Given the description of an element on the screen output the (x, y) to click on. 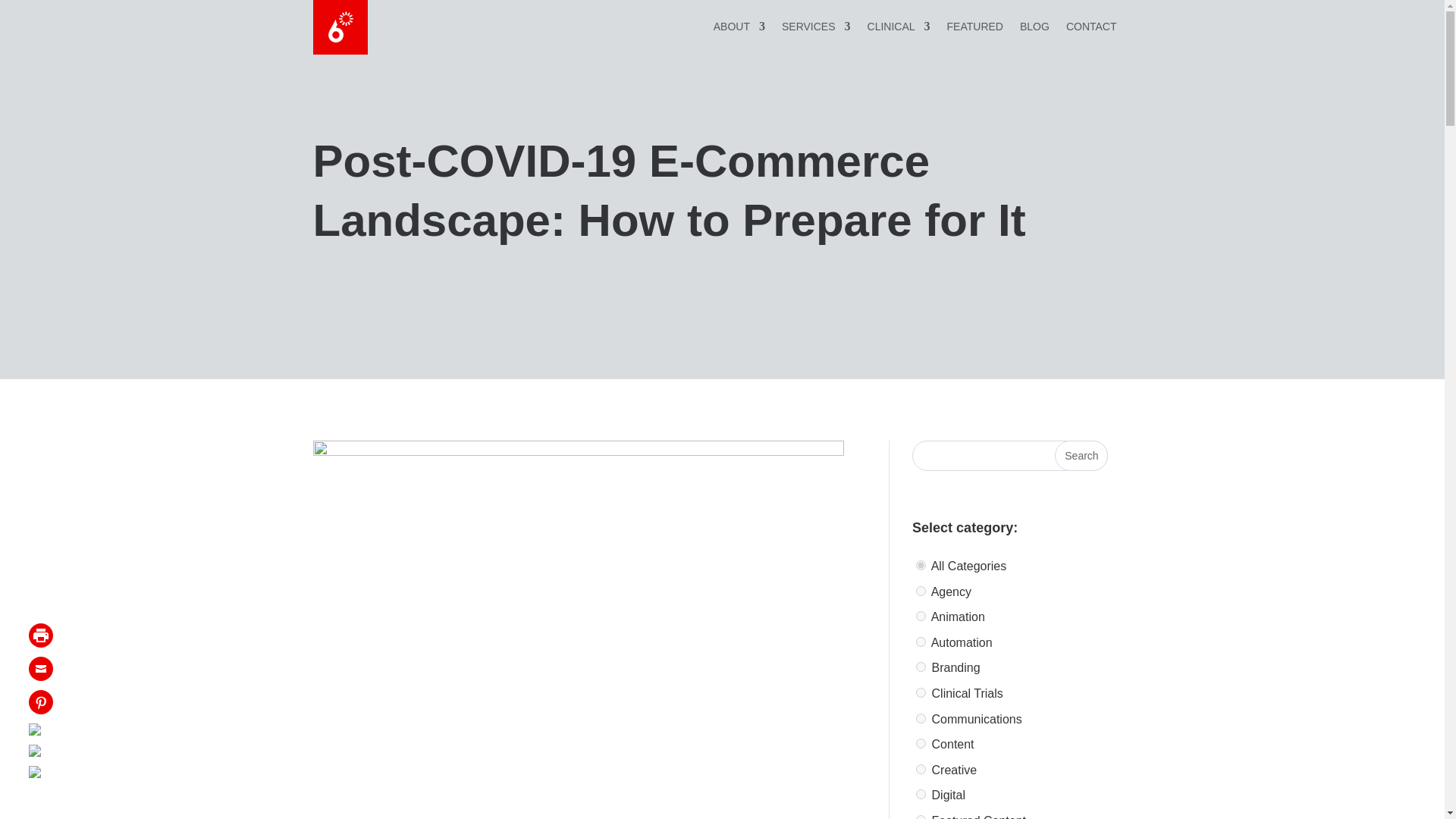
109 (920, 743)
CLINICAL (898, 29)
SERVICES (815, 29)
56 (920, 666)
Search (1081, 455)
107 (920, 768)
113 (920, 642)
CONTACT (1090, 29)
146 (920, 718)
0 (920, 565)
